Given the description of an element on the screen output the (x, y) to click on. 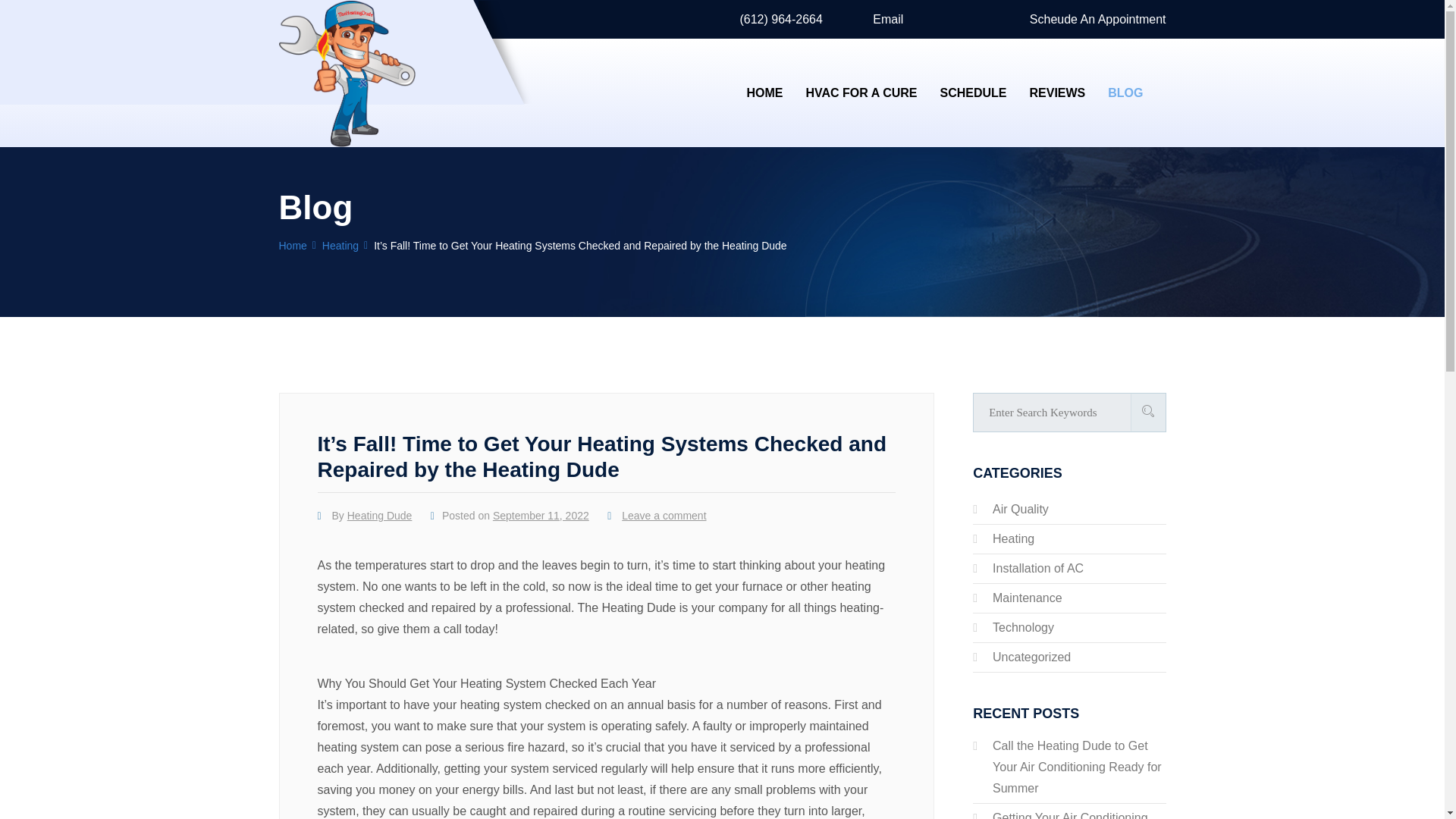
Home (764, 92)
Heating (339, 245)
HVAC FOR A CURE (861, 92)
Email (881, 19)
BLOG (1125, 92)
Blog (1125, 92)
HOME (764, 92)
Maintenance (1027, 597)
Heating (1012, 538)
Air Quality (1020, 508)
HVAC for a Cure (861, 92)
Schedule (972, 92)
SCHEDULE (972, 92)
Scheude An Appointment (1091, 19)
REVIEWS (1056, 92)
